Given the description of an element on the screen output the (x, y) to click on. 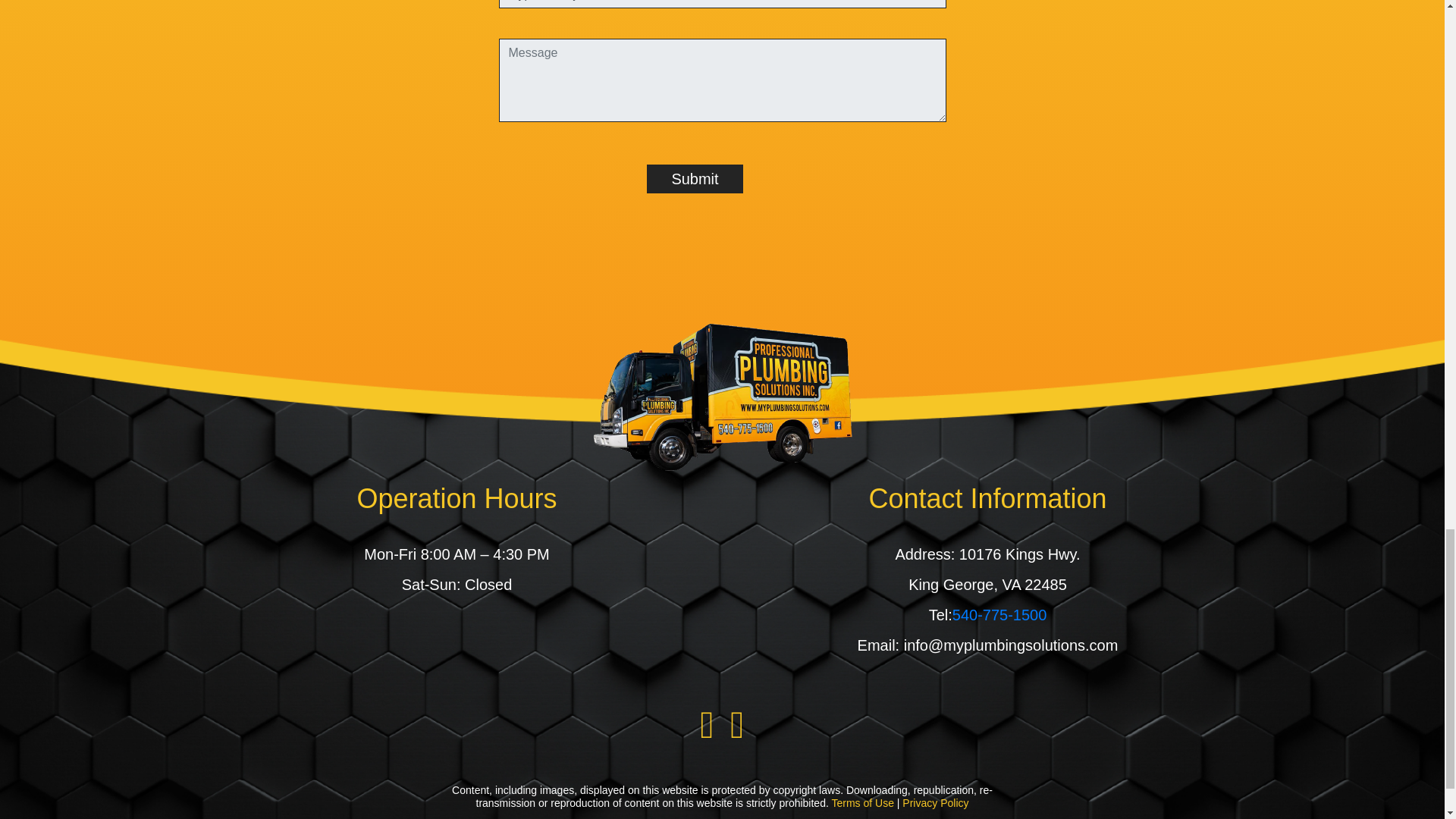
540-775-1500 (999, 614)
Privacy Policy (935, 802)
Terms of Use (862, 802)
Submit (694, 178)
Submit (694, 178)
